Given the description of an element on the screen output the (x, y) to click on. 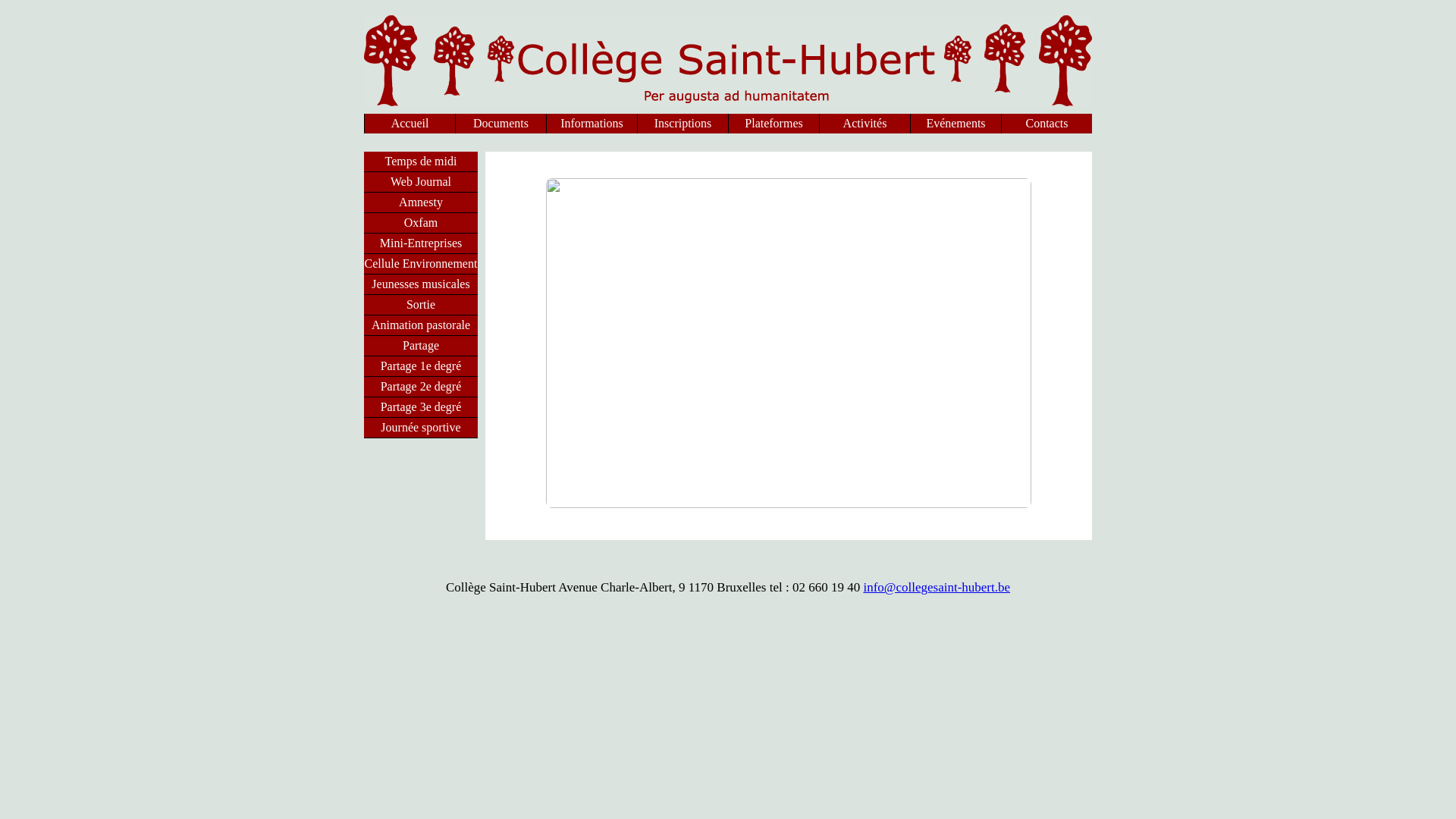
Sortie Element type: text (420, 304)
Animation pastorale Element type: text (420, 325)
Documents Element type: text (500, 123)
Plateformes Element type: text (773, 123)
Temps de midi Element type: text (420, 161)
Oxfam Element type: text (420, 222)
Jeunesses musicales Element type: text (420, 284)
Partage Element type: text (420, 345)
Web Journal Element type: text (420, 181)
Contacts Element type: text (1046, 123)
Cellule Environnement Element type: text (420, 263)
Accueil Element type: text (409, 123)
Inscriptions Element type: text (682, 123)
info@collegesaint-hubert.be Element type: text (936, 587)
Amnesty Element type: text (420, 202)
Informations Element type: text (591, 123)
Mini-Entreprises Element type: text (420, 243)
